Given the description of an element on the screen output the (x, y) to click on. 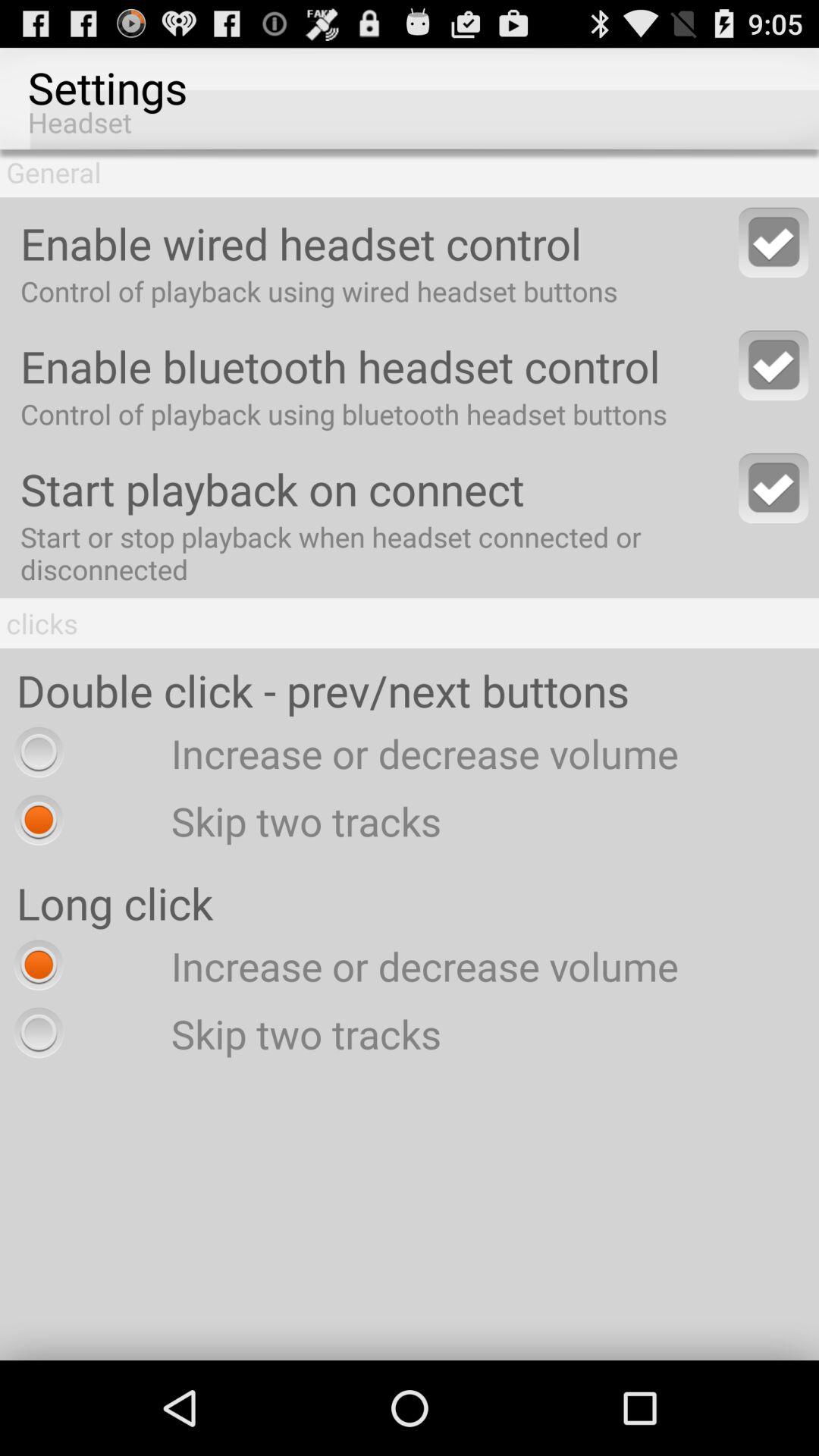
mark or unmark (773, 488)
